Given the description of an element on the screen output the (x, y) to click on. 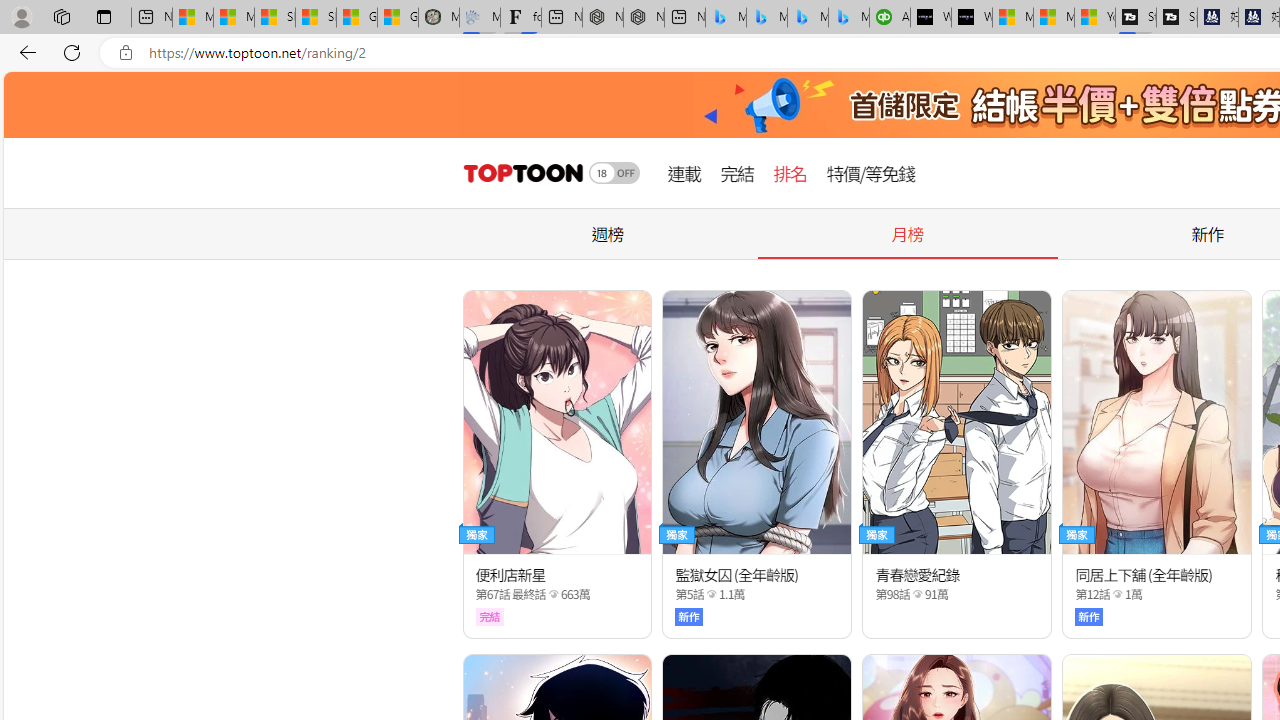
Nordace - #1 Japanese Best-Seller - Siena Smart Backpack (643, 17)
Microsoft Bing Travel - Stays in Bangkok, Bangkok, Thailand (767, 17)
Manatee Mortality Statistics | FWC (438, 17)
Class:  switch_18mode actionAdultBtn (614, 173)
Streaming Coverage | T3 (1135, 17)
Gilma and Hector both pose tropical trouble for Hawaii (397, 17)
